Given the description of an element on the screen output the (x, y) to click on. 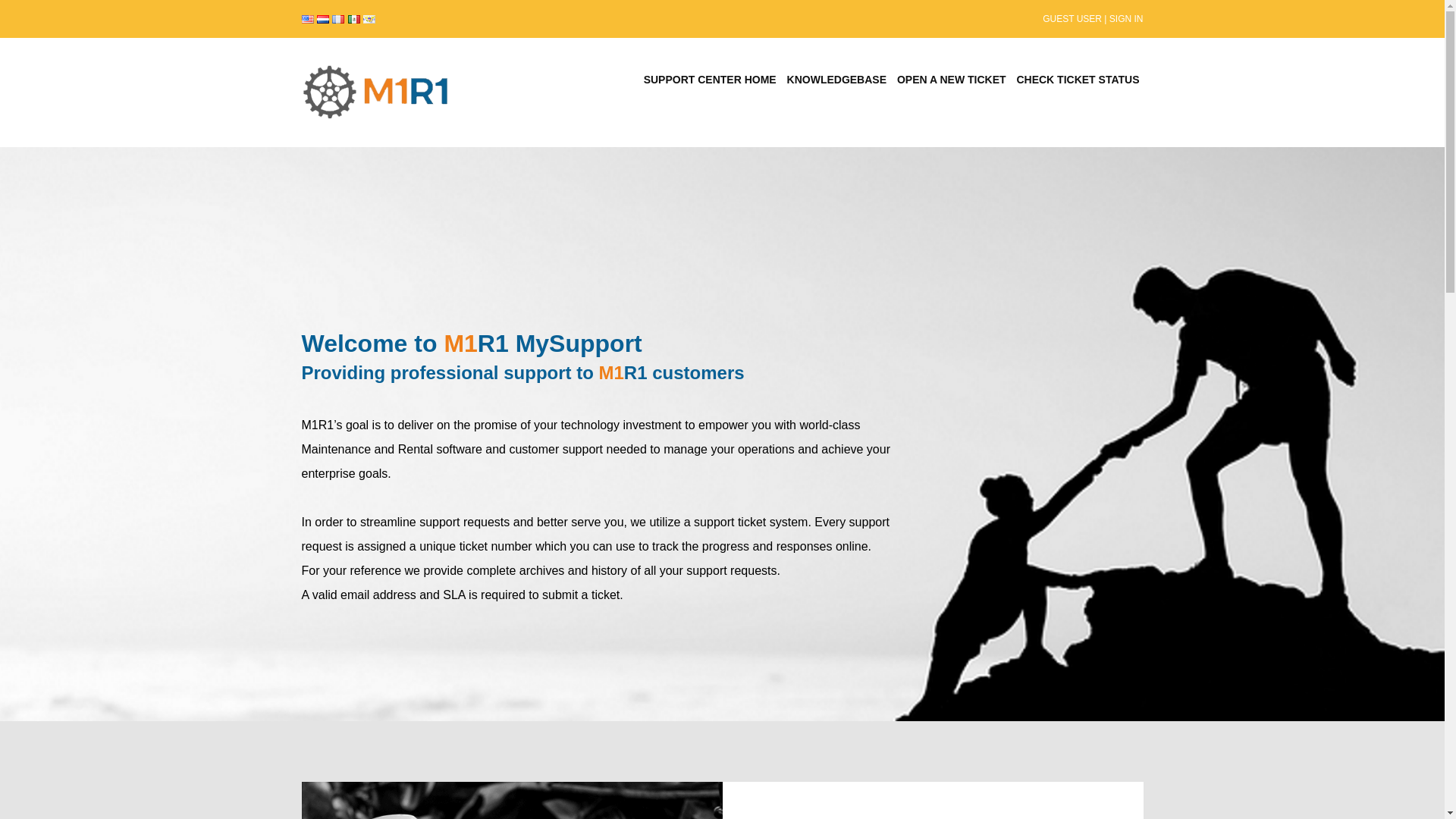
Support Center (376, 92)
KNOWLEDGEBASE (836, 79)
SIGN IN (1125, 18)
CHECK TICKET STATUS (1077, 79)
SUPPORT CENTER HOME (709, 79)
OPEN A NEW TICKET (951, 79)
